Given the description of an element on the screen output the (x, y) to click on. 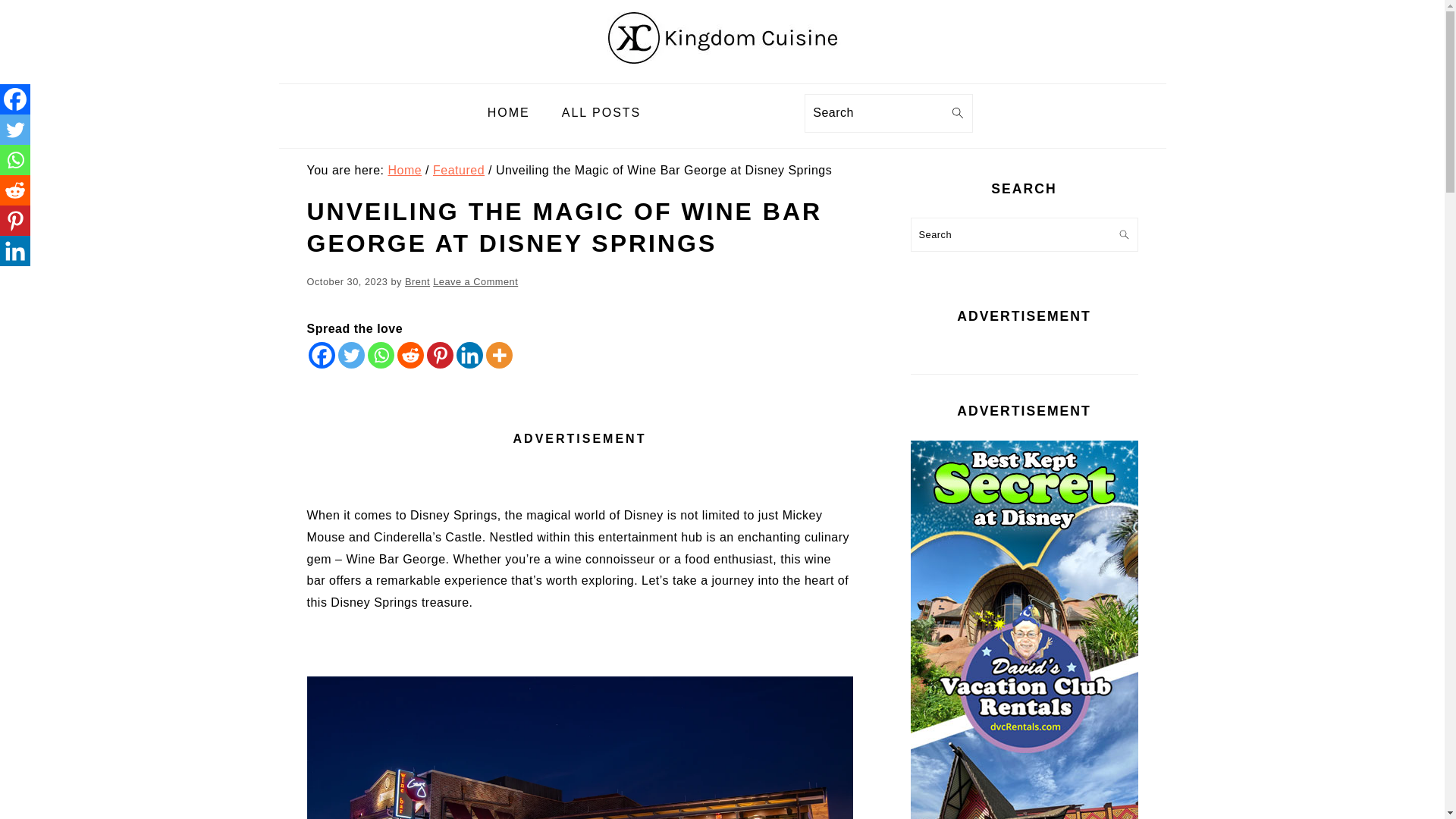
Featured (458, 169)
HOME (508, 113)
ALL POSTS (602, 113)
Linkedin (470, 355)
YOUTUBE (736, 104)
Leave a Comment (475, 281)
Kingdom Cuisine (721, 71)
